Given the description of an element on the screen output the (x, y) to click on. 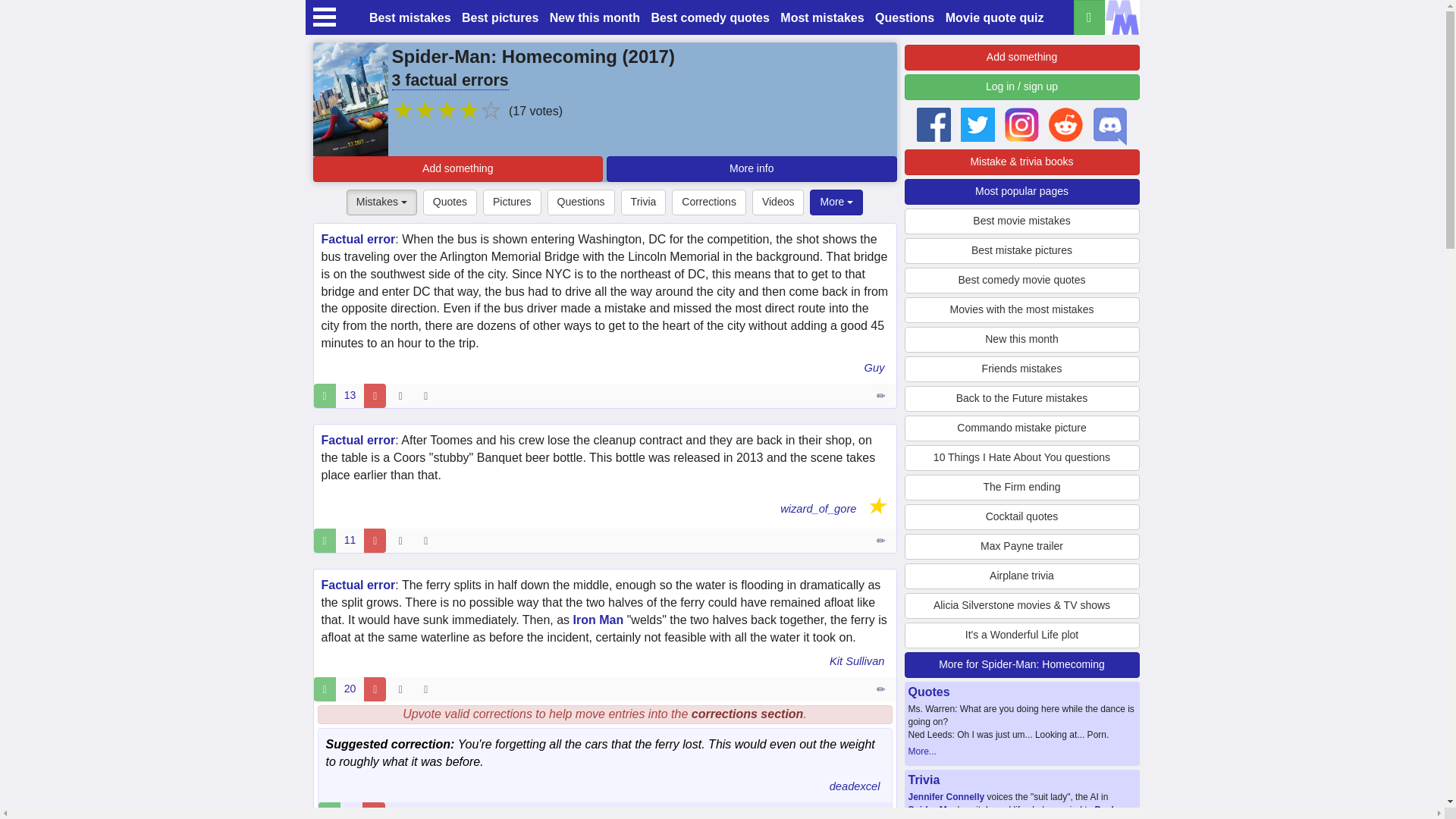
I like this (325, 689)
I dislike this (374, 395)
Entry 232762 (881, 540)
I like this (325, 395)
Premium member (875, 505)
Share this entry (429, 689)
I dislike this (374, 689)
Entry 234881 (881, 395)
I like this (325, 540)
Entry 233519 (881, 689)
I like this (329, 810)
I dislike this (373, 810)
Share this entry (429, 540)
I dislike this (374, 540)
Share this entry (429, 395)
